Given the description of an element on the screen output the (x, y) to click on. 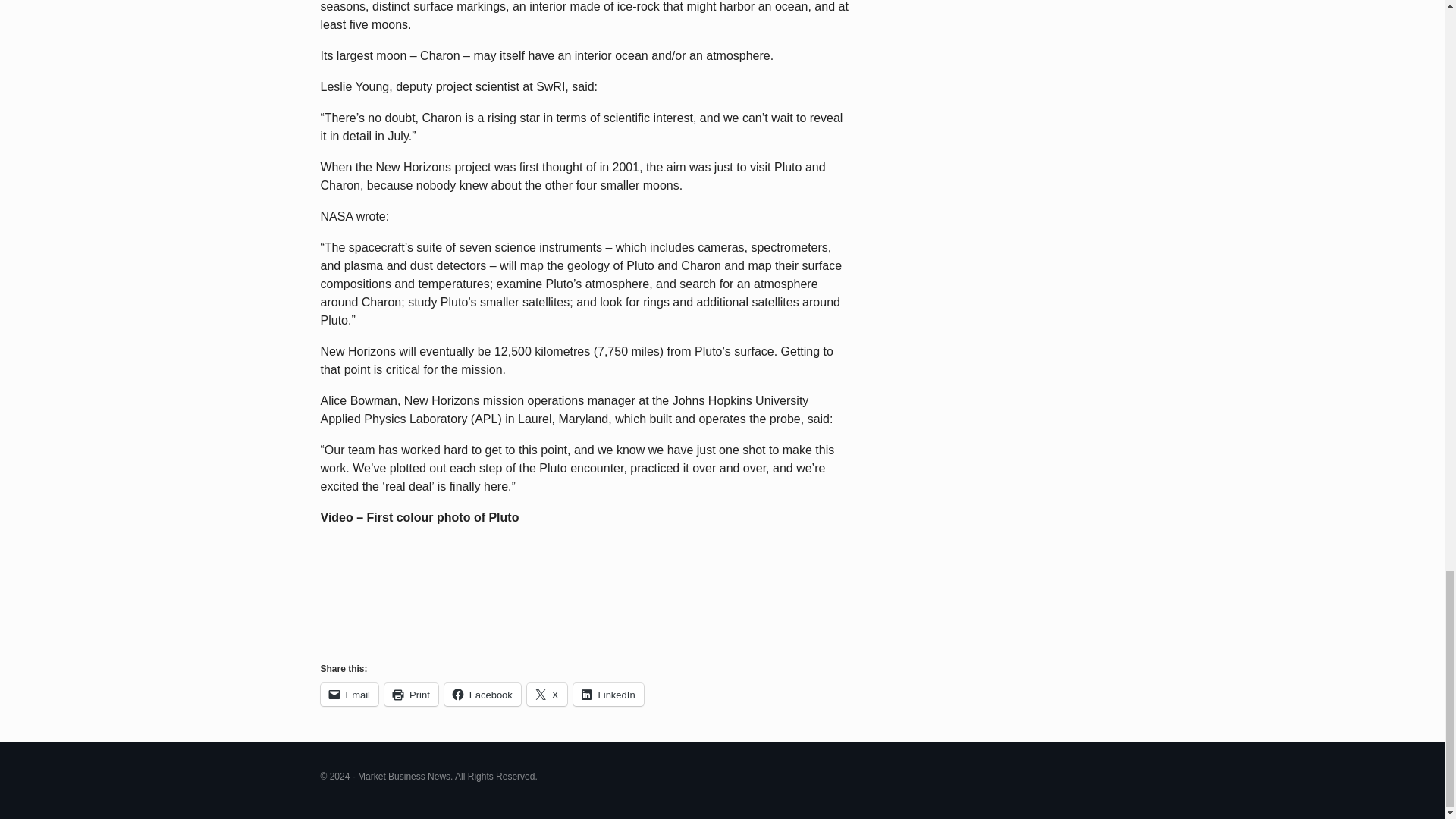
Print (411, 694)
Email (349, 694)
Click to share on X (547, 694)
Click to print (411, 694)
Click to share on Facebook (482, 694)
LinkedIn (608, 694)
Click to email a link to a friend (349, 694)
Facebook (482, 694)
Click to share on LinkedIn (608, 694)
X (547, 694)
